Given the description of an element on the screen output the (x, y) to click on. 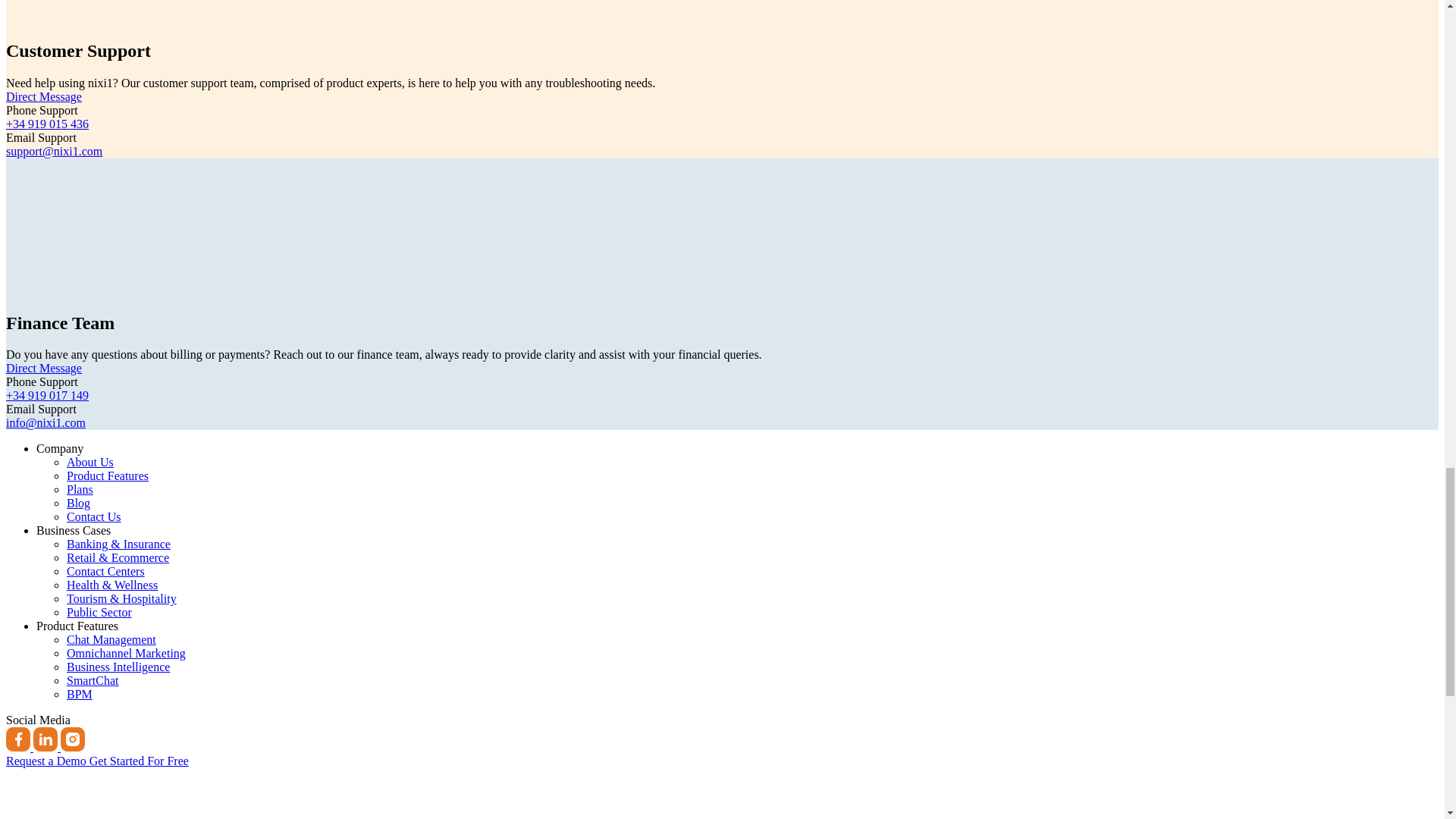
About Us (89, 461)
Plans (79, 489)
Direct Message (43, 367)
Product Features (76, 625)
Direct Message (43, 96)
Blog (78, 502)
Contact Centers (105, 571)
Company (59, 448)
Contact Us (93, 516)
Product Features (107, 475)
